Given the description of an element on the screen output the (x, y) to click on. 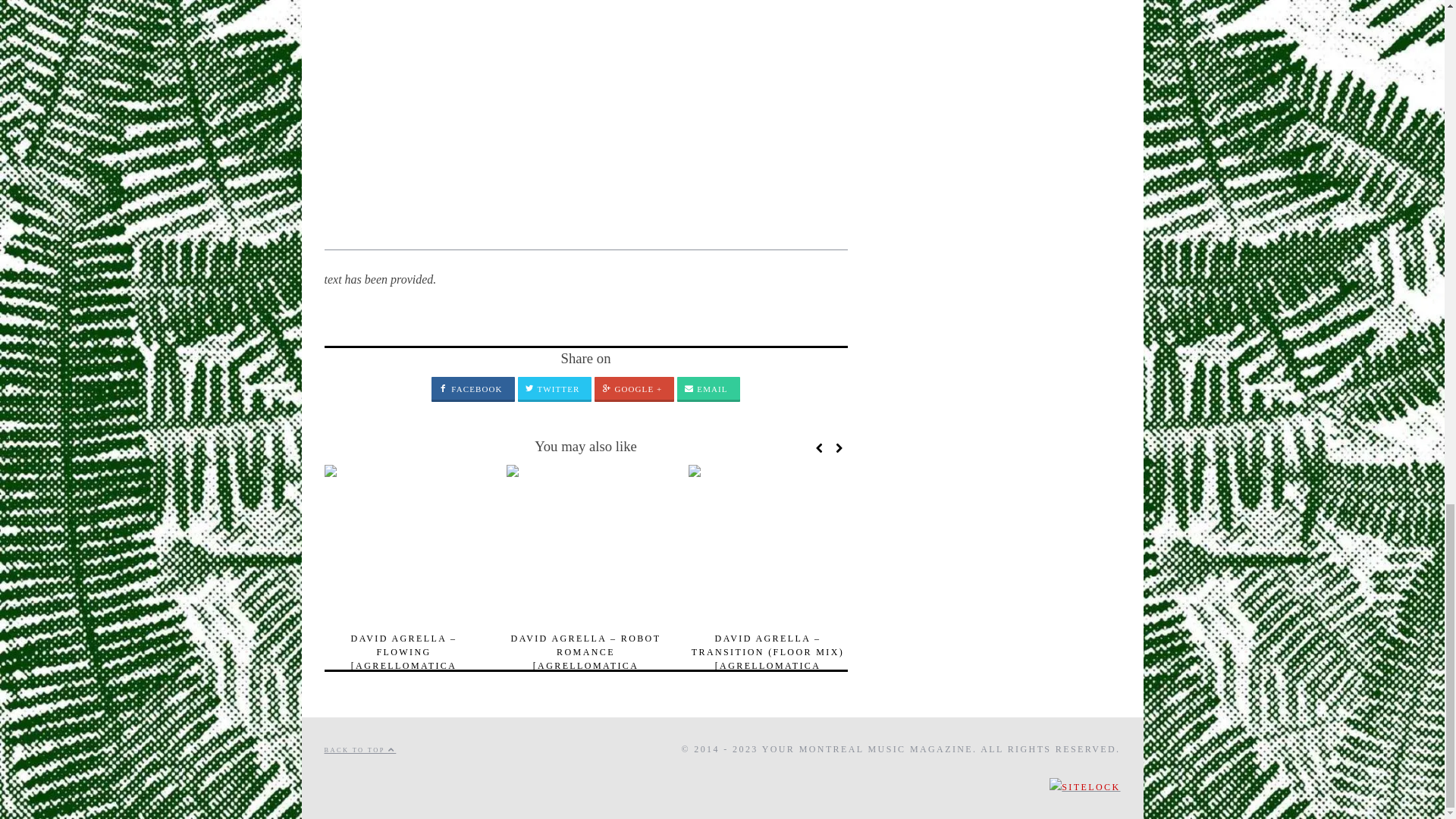
SiteLock (1084, 787)
